Given the description of an element on the screen output the (x, y) to click on. 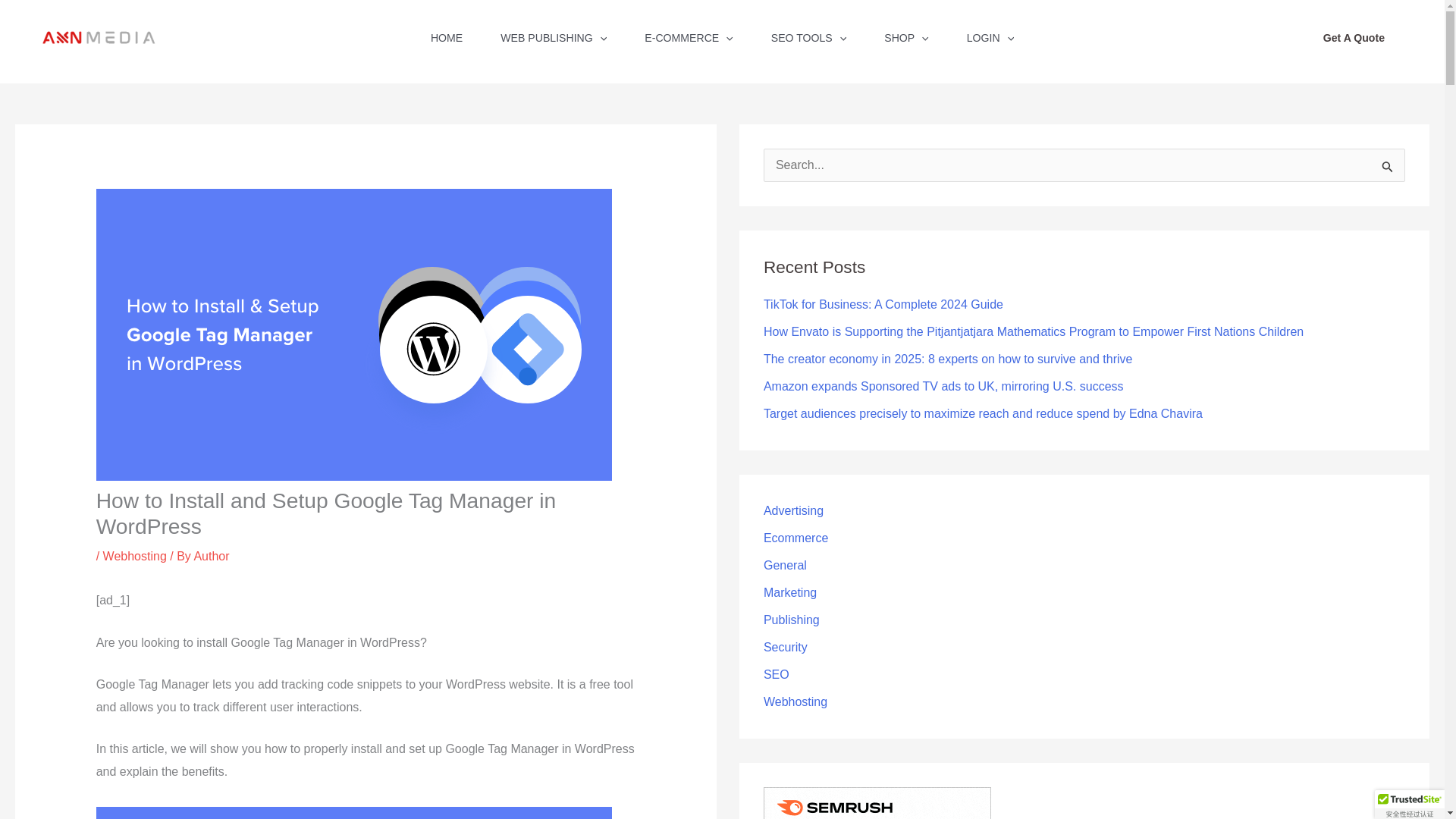
Author (210, 555)
SHOP (905, 41)
LOGIN (989, 41)
WEB PUBLISHING (553, 41)
SEO TOOLS (809, 41)
E-COMMERCE (688, 41)
Get A Quote (1353, 37)
Webhosting (135, 555)
View all posts by Author (210, 555)
